Given the description of an element on the screen output the (x, y) to click on. 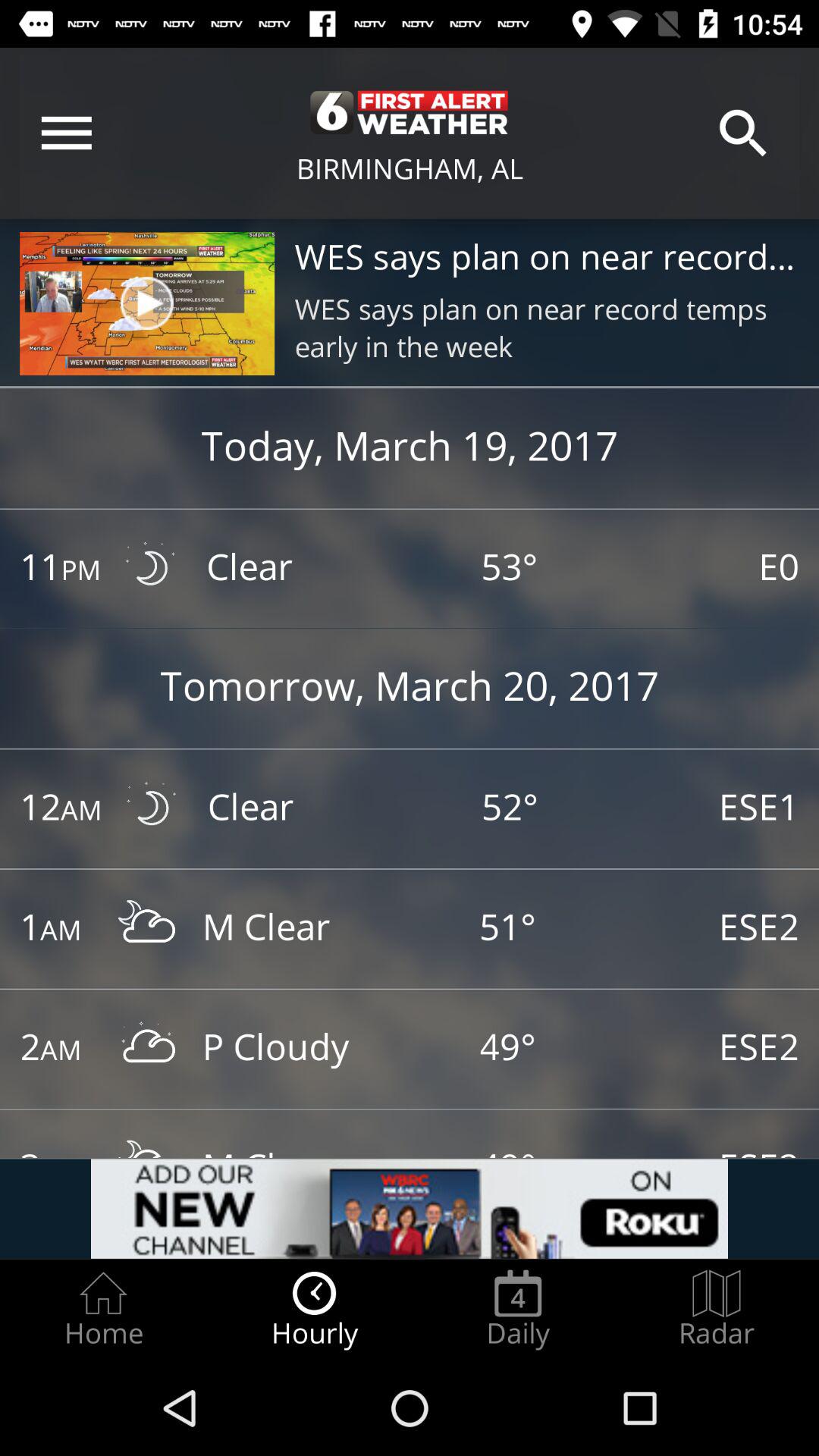
scroll to radar (716, 1309)
